Given the description of an element on the screen output the (x, y) to click on. 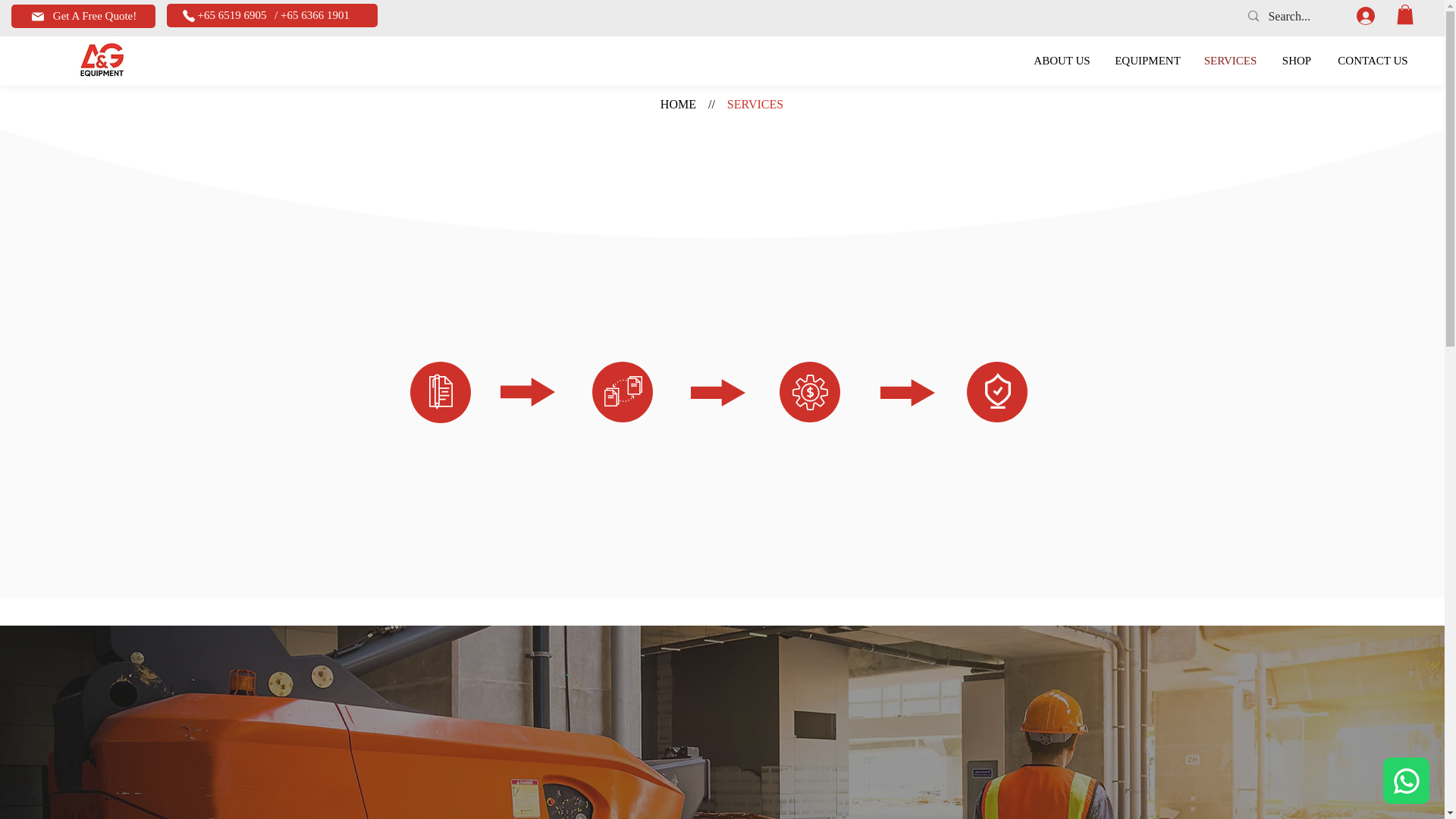
SERVICES (1230, 60)
CONTACT US (1372, 60)
EQUIPMENT (1147, 60)
SERVICES (754, 103)
Get A Free Quote! (83, 15)
ABOUT US (1061, 60)
. (1372, 15)
SHOP (1296, 60)
HOME (678, 103)
